Given the description of an element on the screen output the (x, y) to click on. 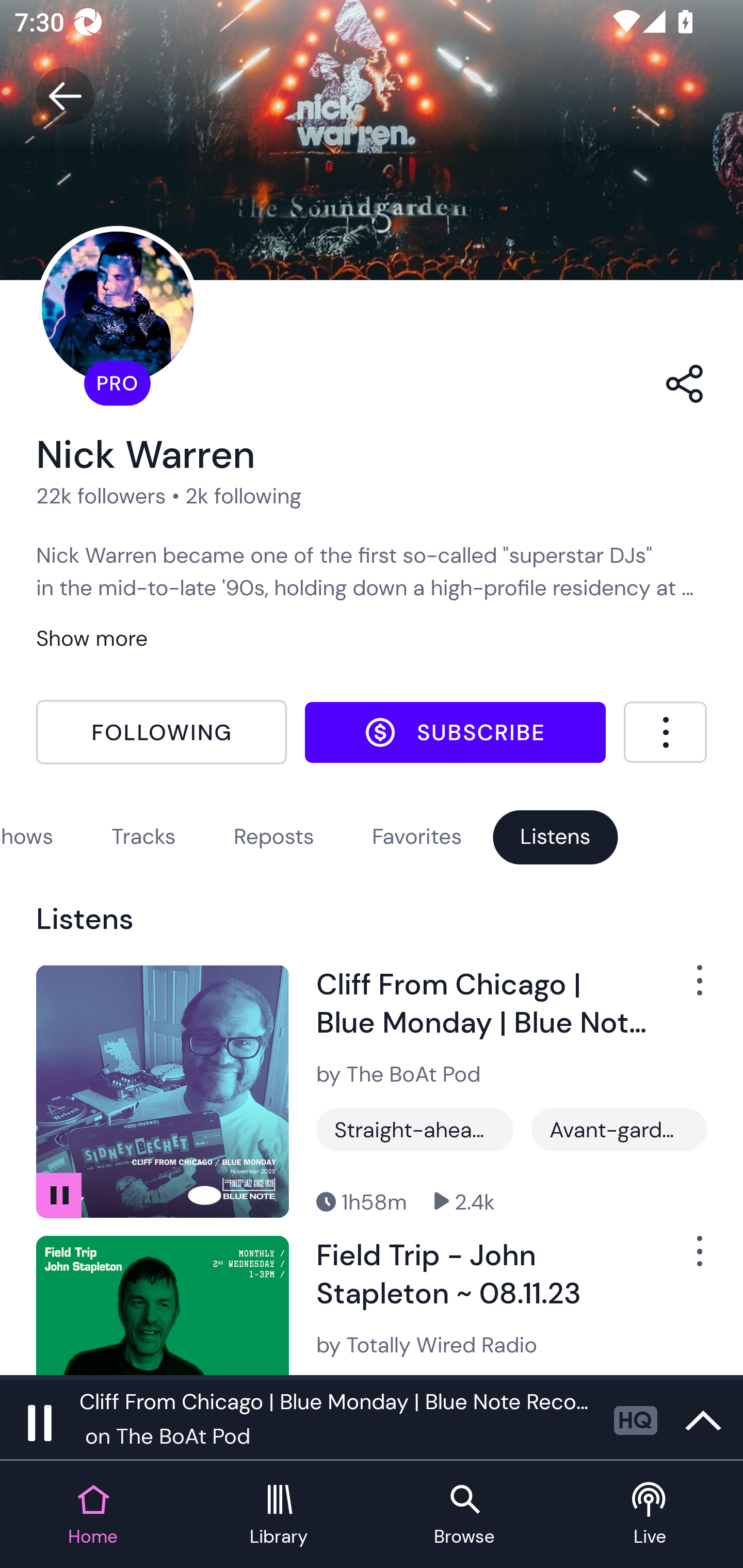
22k followers (101, 495)
2k following (243, 495)
Following FOLLOWING (161, 732)
More Menu (665, 731)
Subscribe SUBSCRIBE (454, 732)
Shows (26, 836)
Tracks (143, 836)
Reposts (274, 836)
Favorites (417, 836)
Listens (555, 836)
Show Options Menu Button (688, 987)
Straight-ahead Jazz (414, 1129)
Avant-garde Jazz (618, 1129)
Show Options Menu Button (688, 1258)
Home tab Home (92, 1515)
Library tab Library (278, 1515)
Browse tab Browse (464, 1515)
Live tab Live (650, 1515)
